Given the description of an element on the screen output the (x, y) to click on. 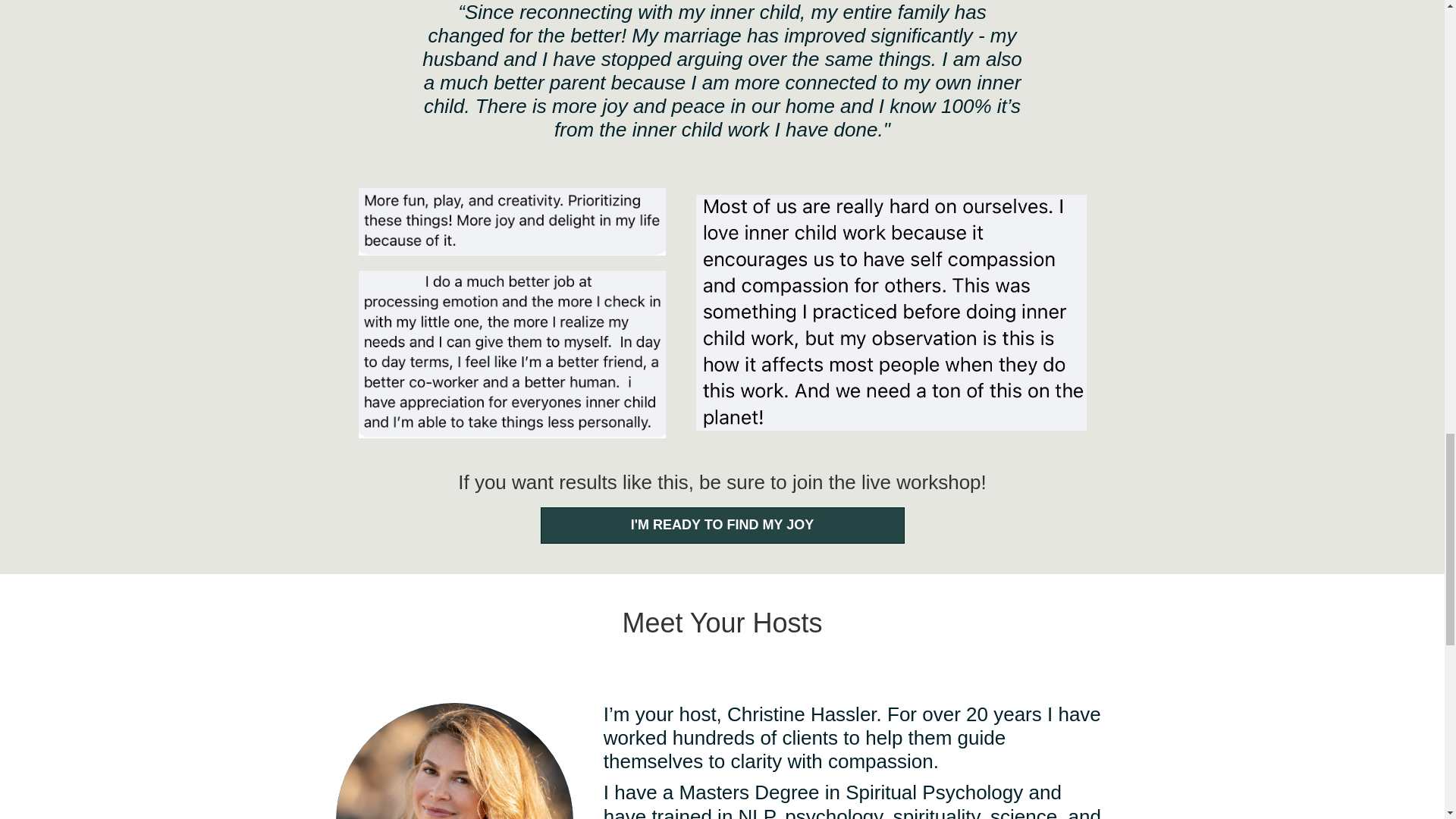
Christine Headshot (453, 760)
I'M READY TO FIND MY JOY (722, 524)
InnerChildTestimonial1 (890, 312)
InnerChildTestimonial3 (511, 354)
InnerChildTestimonial2 (511, 221)
